Given the description of an element on the screen output the (x, y) to click on. 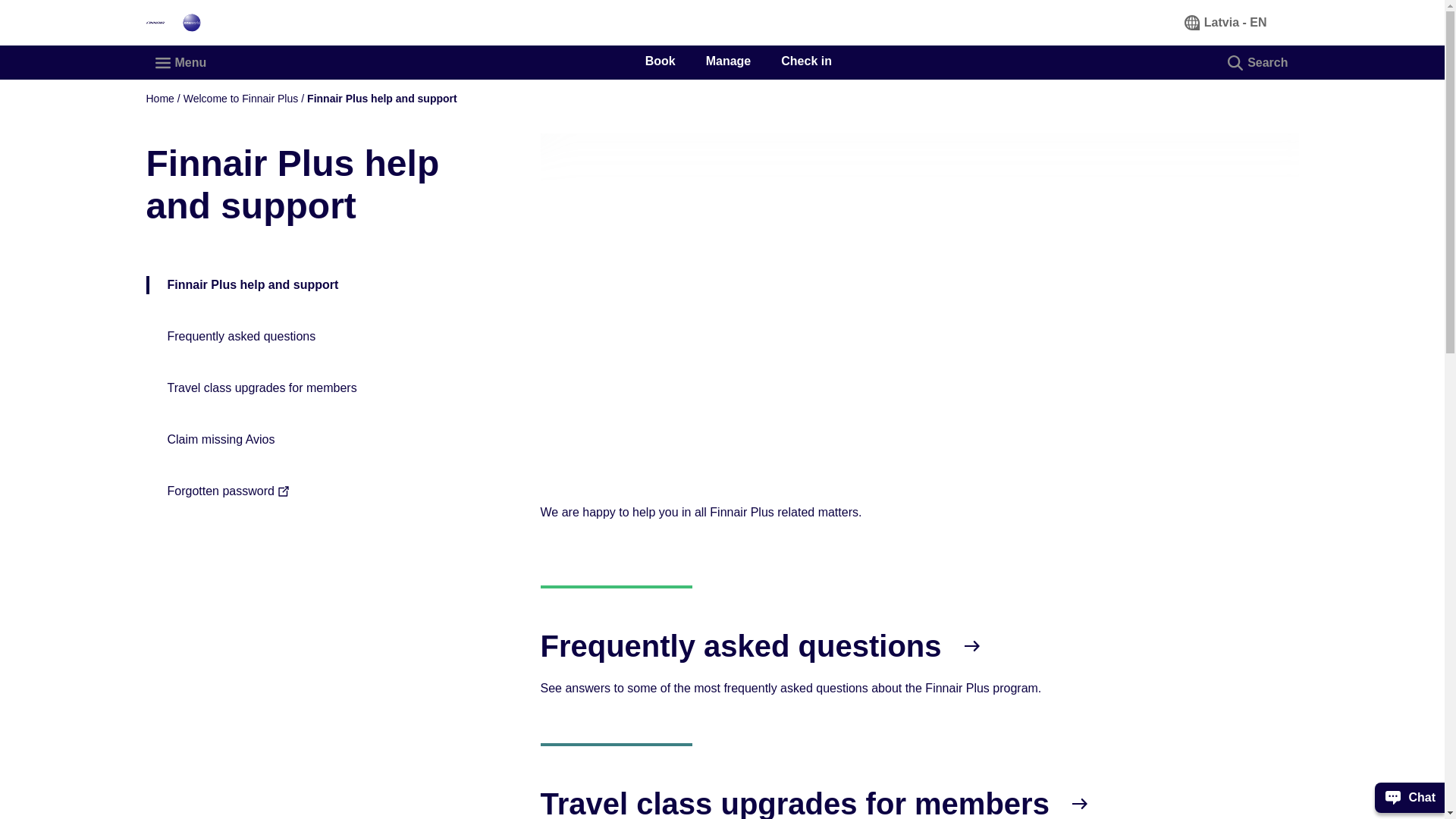
Check in (805, 61)
Menu (180, 61)
Book (660, 61)
Latvia - EN (1226, 22)
Manage (728, 61)
Search (1258, 61)
